Given the description of an element on the screen output the (x, y) to click on. 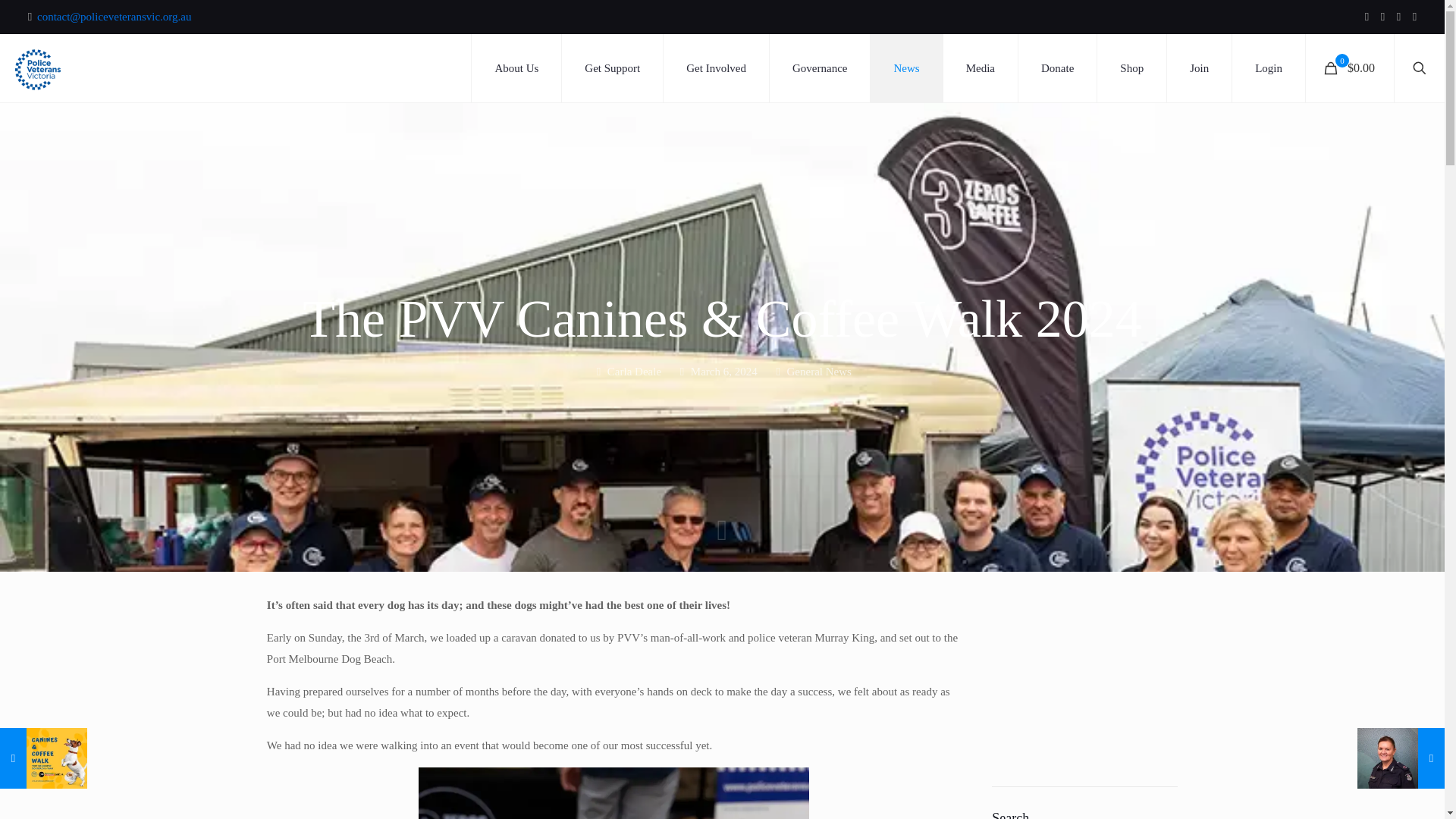
Shop (1132, 68)
Governance (820, 68)
Donate (1057, 68)
Media (980, 68)
Login (1267, 68)
Instagram (1415, 16)
Join (1199, 68)
General News (818, 371)
LinkedIn (1399, 16)
Carla Deale (634, 371)
